Given the description of an element on the screen output the (x, y) to click on. 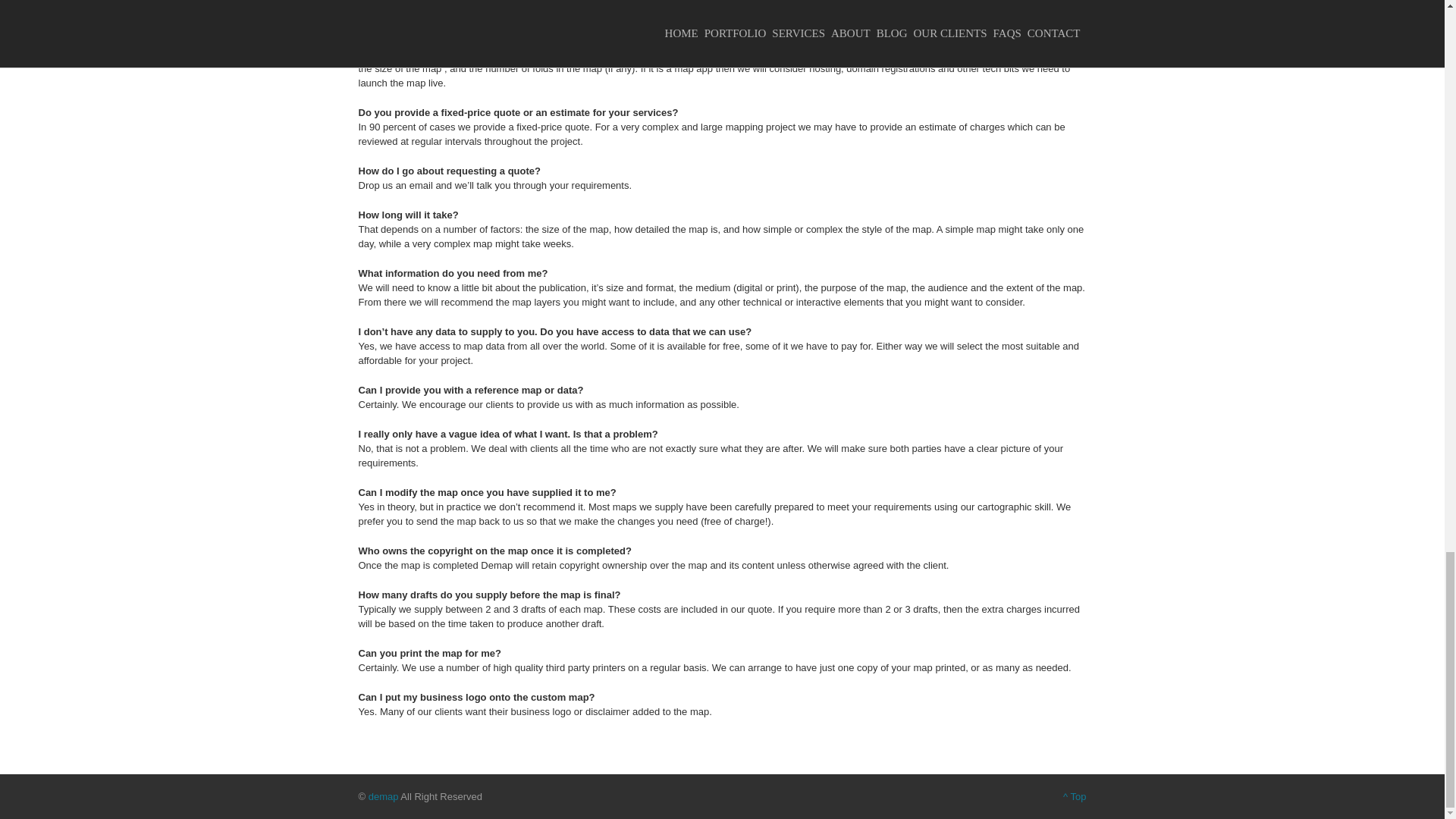
demap (383, 796)
